Given the description of an element on the screen output the (x, y) to click on. 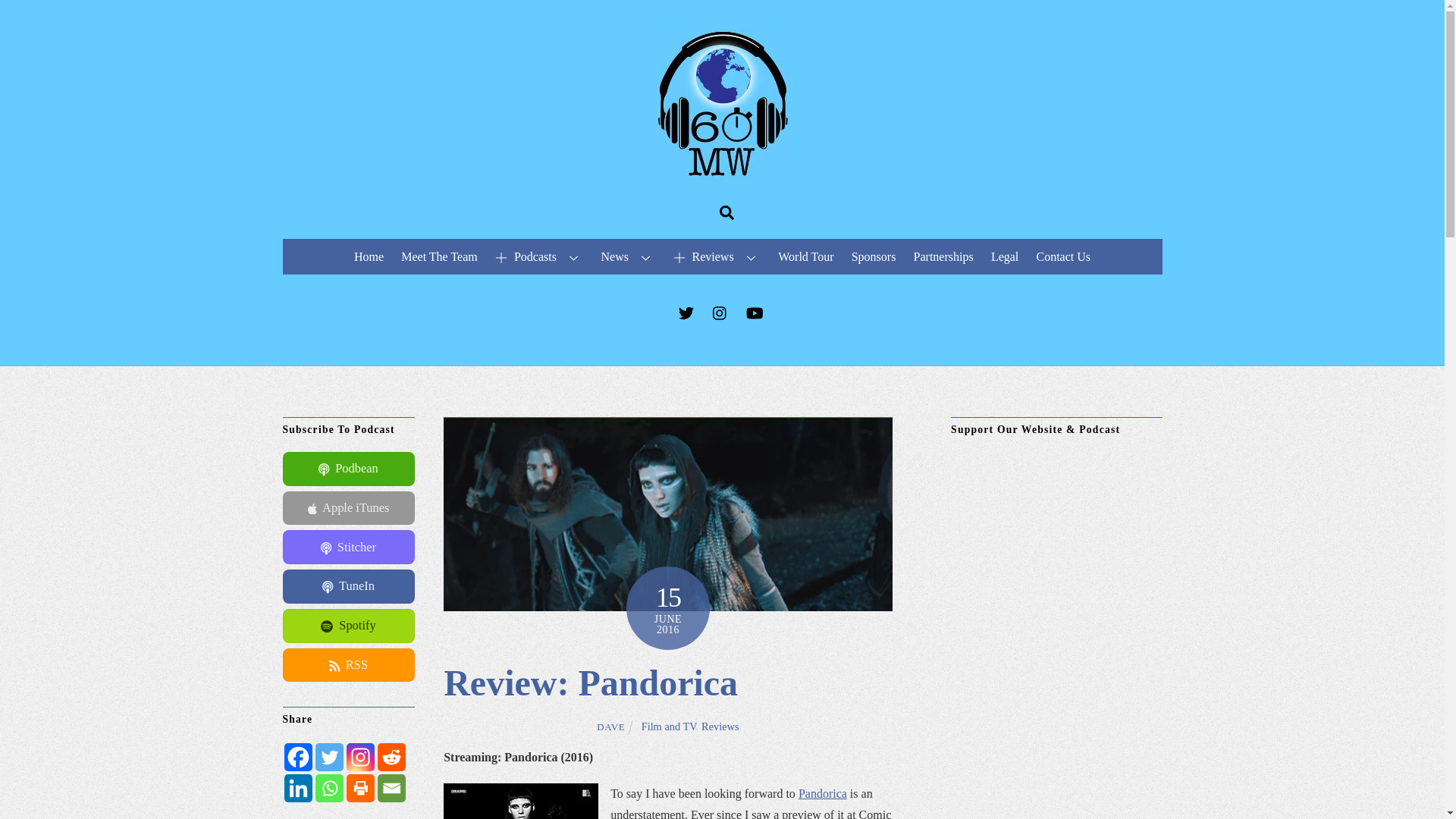
DAVE (610, 726)
Film and TV (668, 726)
Podcasts (539, 256)
60 Minutes With (722, 173)
Home (368, 256)
Reviews (716, 256)
World Tour (806, 256)
Legal (1005, 256)
Search (726, 211)
Contact Us (1063, 256)
